Given the description of an element on the screen output the (x, y) to click on. 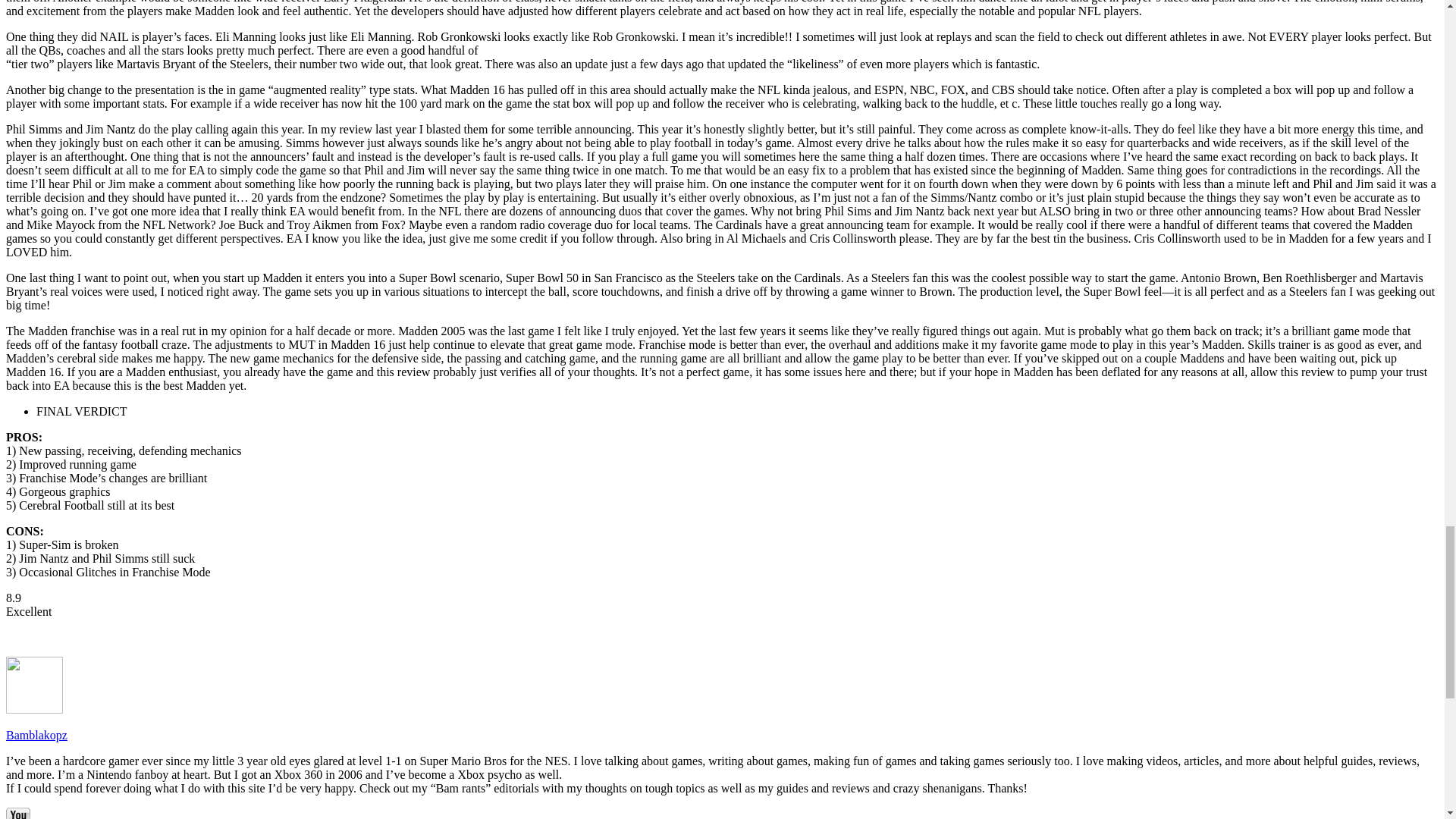
YouTube (17, 813)
FINAL VERDICT (82, 410)
Bamblakopz (35, 735)
tab1 (82, 410)
